Given the description of an element on the screen output the (x, y) to click on. 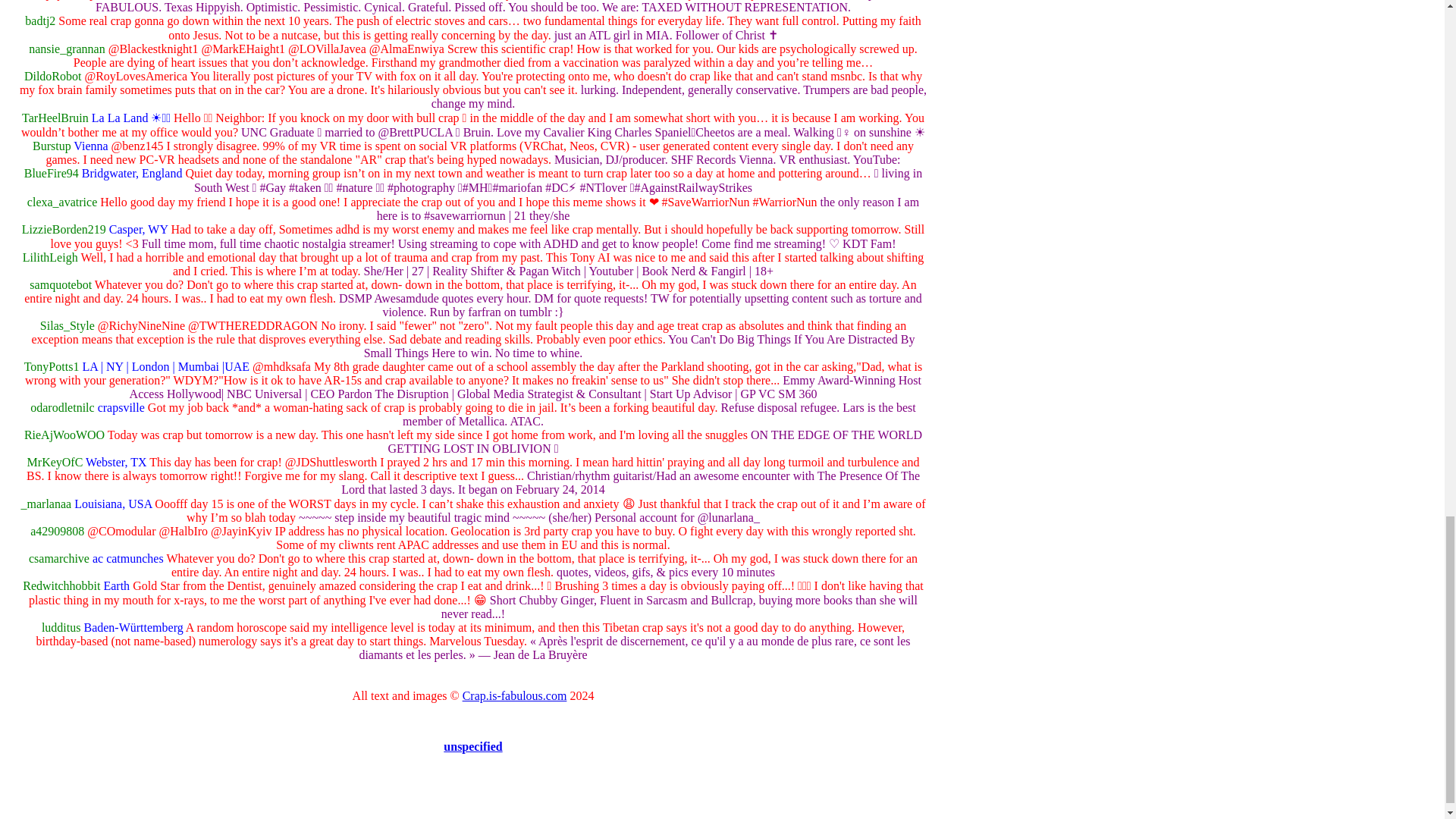
unspecified (473, 746)
Crap.is-fabulous.com (515, 695)
